Given the description of an element on the screen output the (x, y) to click on. 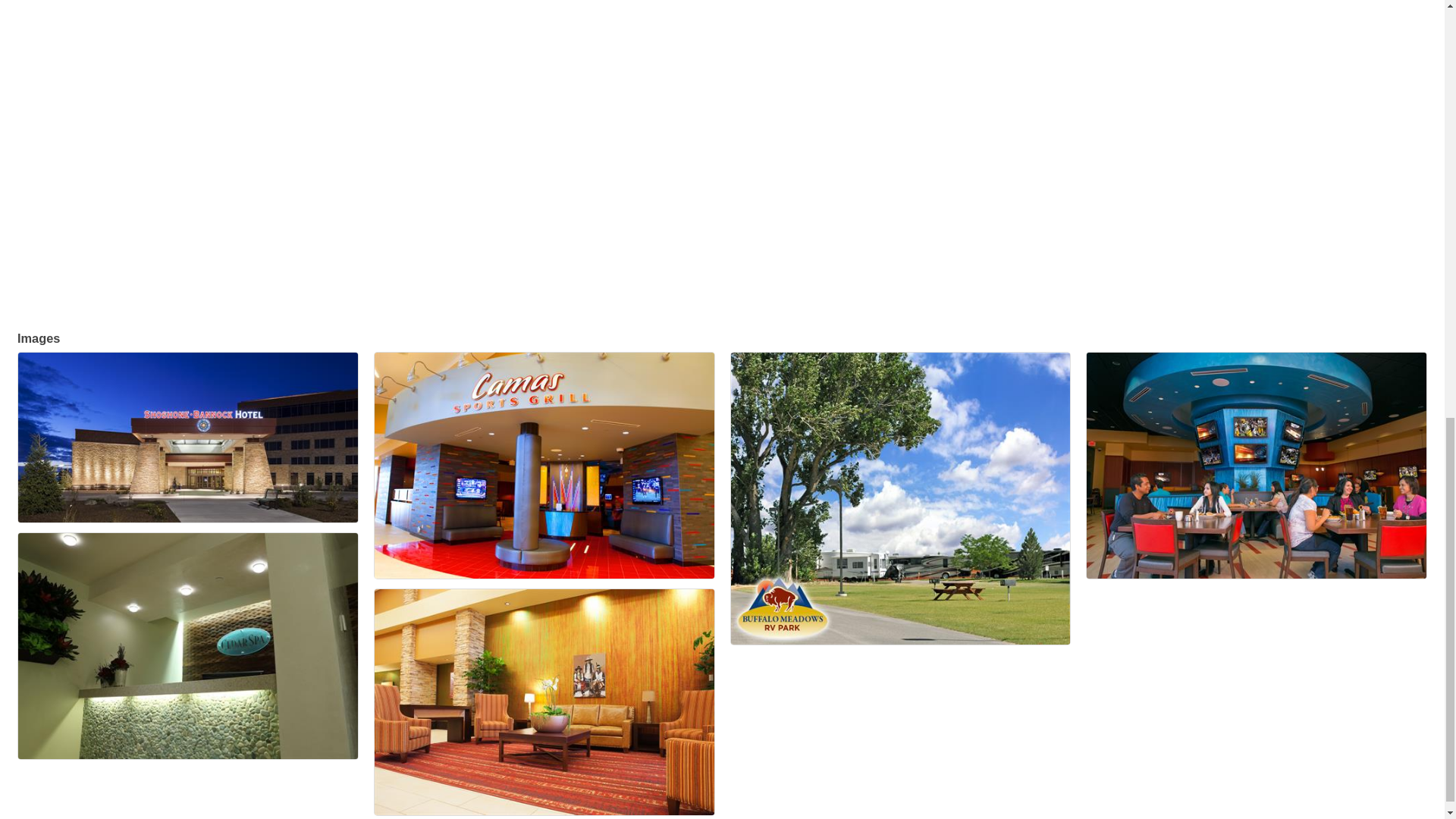
Cedar Spa Front Desk (187, 646)
Hotel Lobby (544, 701)
Buffalo Meadows RV Park (900, 498)
Camas Grill (1256, 465)
Camas Grill (544, 465)
